Given the description of an element on the screen output the (x, y) to click on. 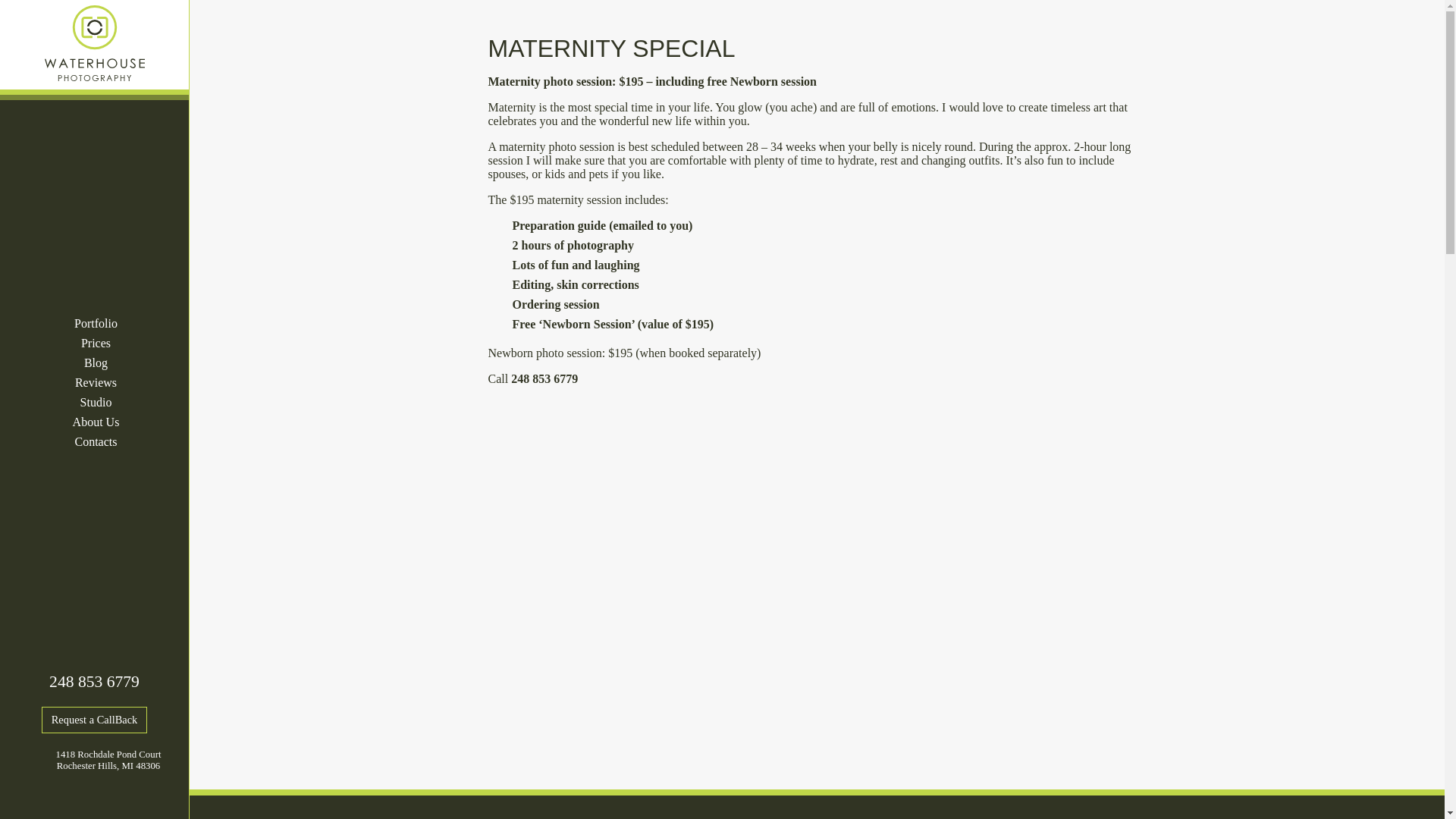
Prices (96, 342)
Blog (96, 362)
Studio (96, 402)
Reviews (96, 383)
Prices (96, 342)
Request a CallBack (95, 719)
Maternity photo session Detroit Rochester Hills (556, 146)
About Us (96, 422)
Blog (96, 362)
Waterhouse Photography YouTube channel (111, 802)
Waterhouse Photography Facebook (76, 802)
Request a callback (95, 719)
Newborn photo session Detroit Rochester Hills (544, 352)
Studio (96, 402)
About Us (96, 422)
